Given the description of an element on the screen output the (x, y) to click on. 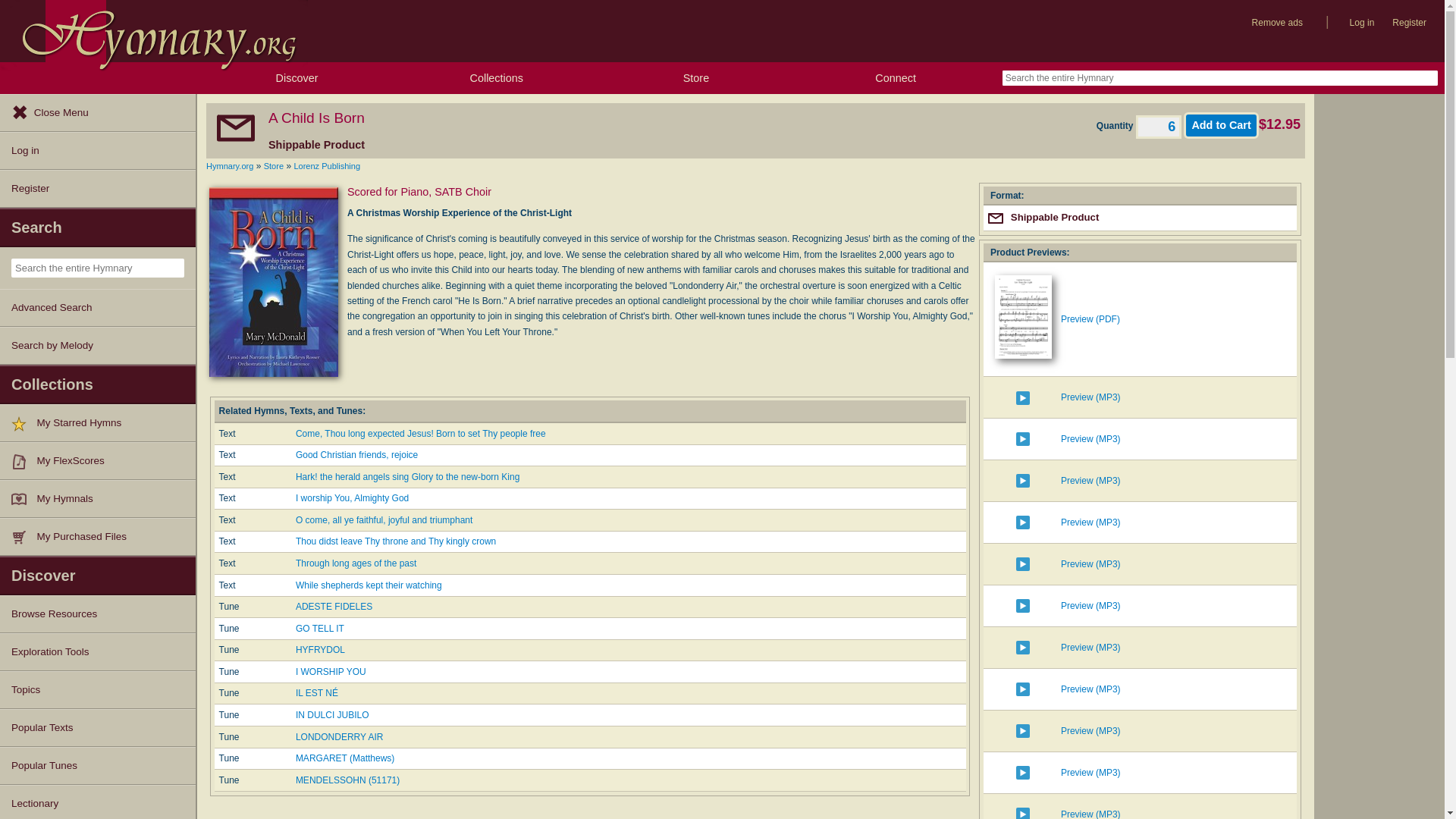
Register (97, 188)
Flexscore (24, 461)
Product (24, 537)
In my hymnals (24, 499)
Log in (1361, 22)
6 (1157, 126)
Shippable Product (995, 218)
Home Page (153, 31)
Shippable Product (235, 128)
Remove ads (1277, 22)
Close Menu (97, 112)
Log in (97, 150)
Add to Cart (1221, 125)
Advanced Search (97, 307)
